Given the description of an element on the screen output the (x, y) to click on. 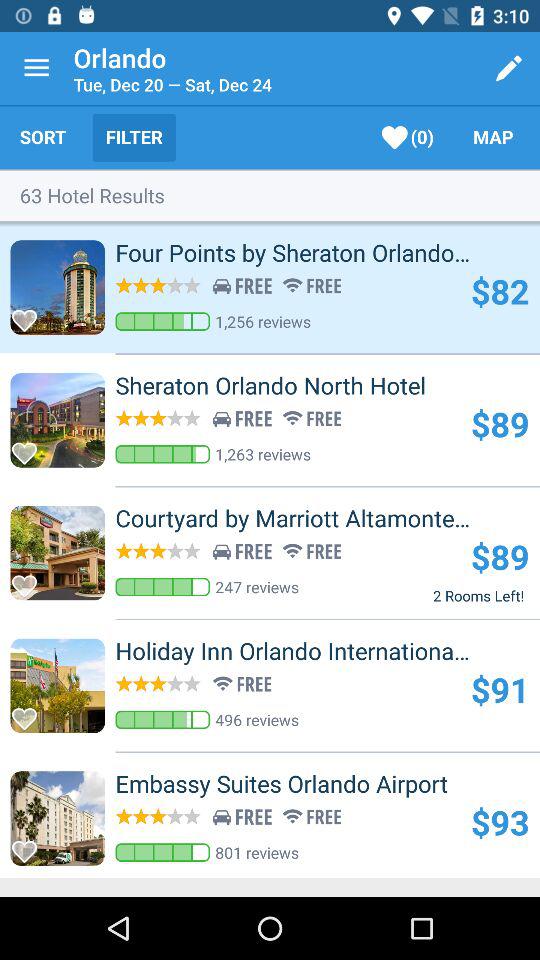
swipe until the holiday inn orlando item (327, 651)
